Given the description of an element on the screen output the (x, y) to click on. 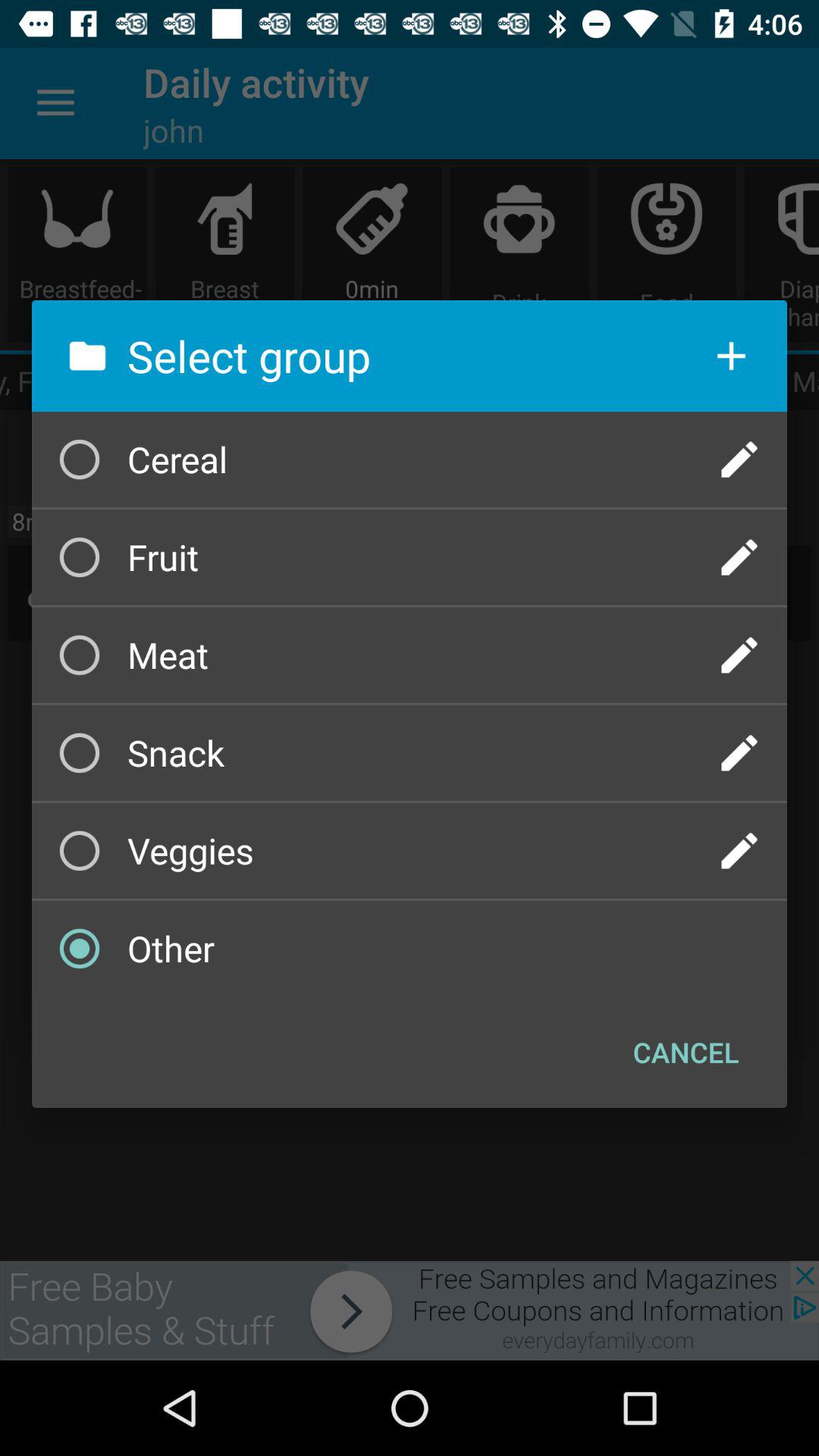
edit fruit option (739, 557)
